Given the description of an element on the screen output the (x, y) to click on. 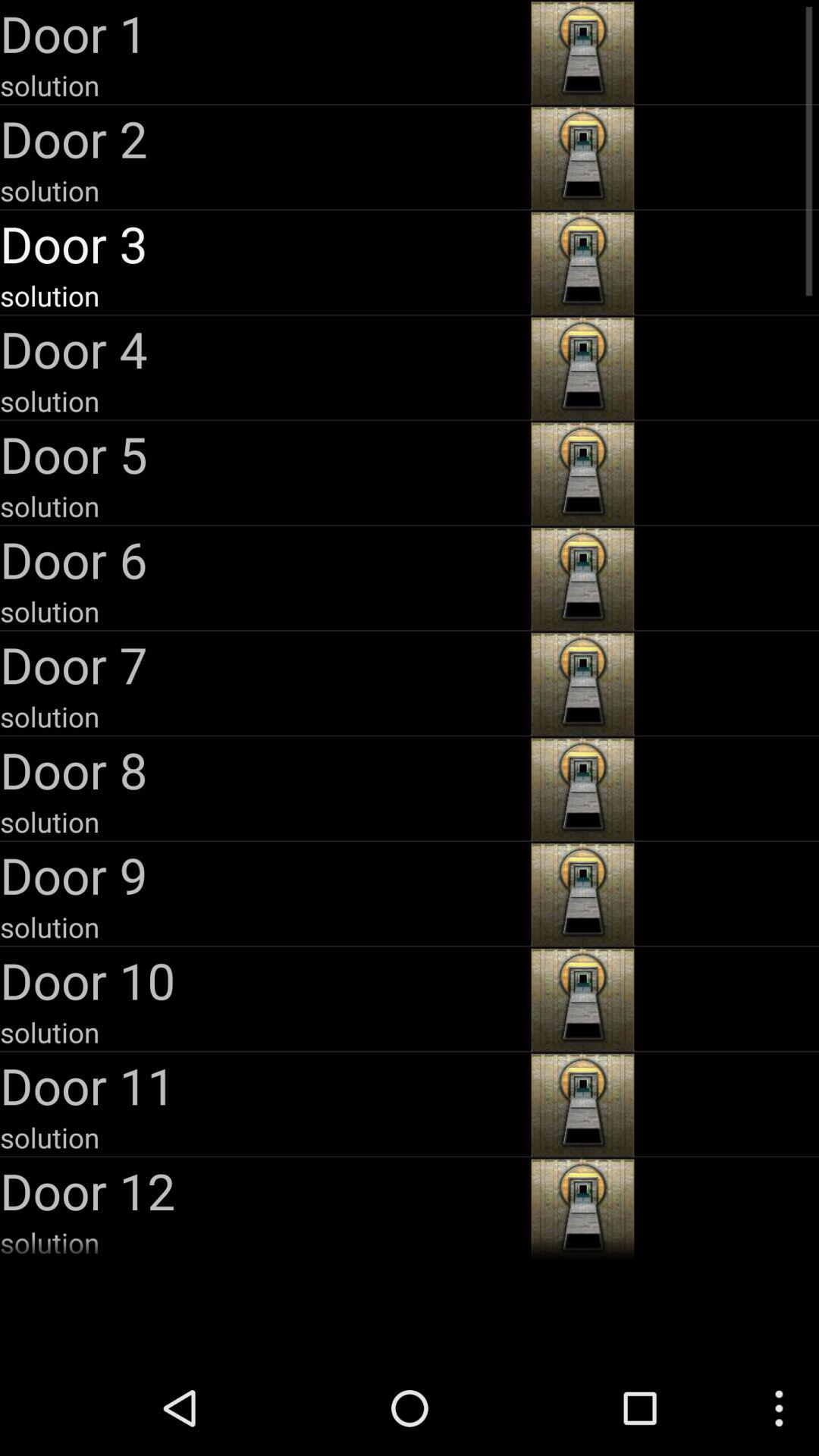
tap door 7 (263, 664)
